Given the description of an element on the screen output the (x, y) to click on. 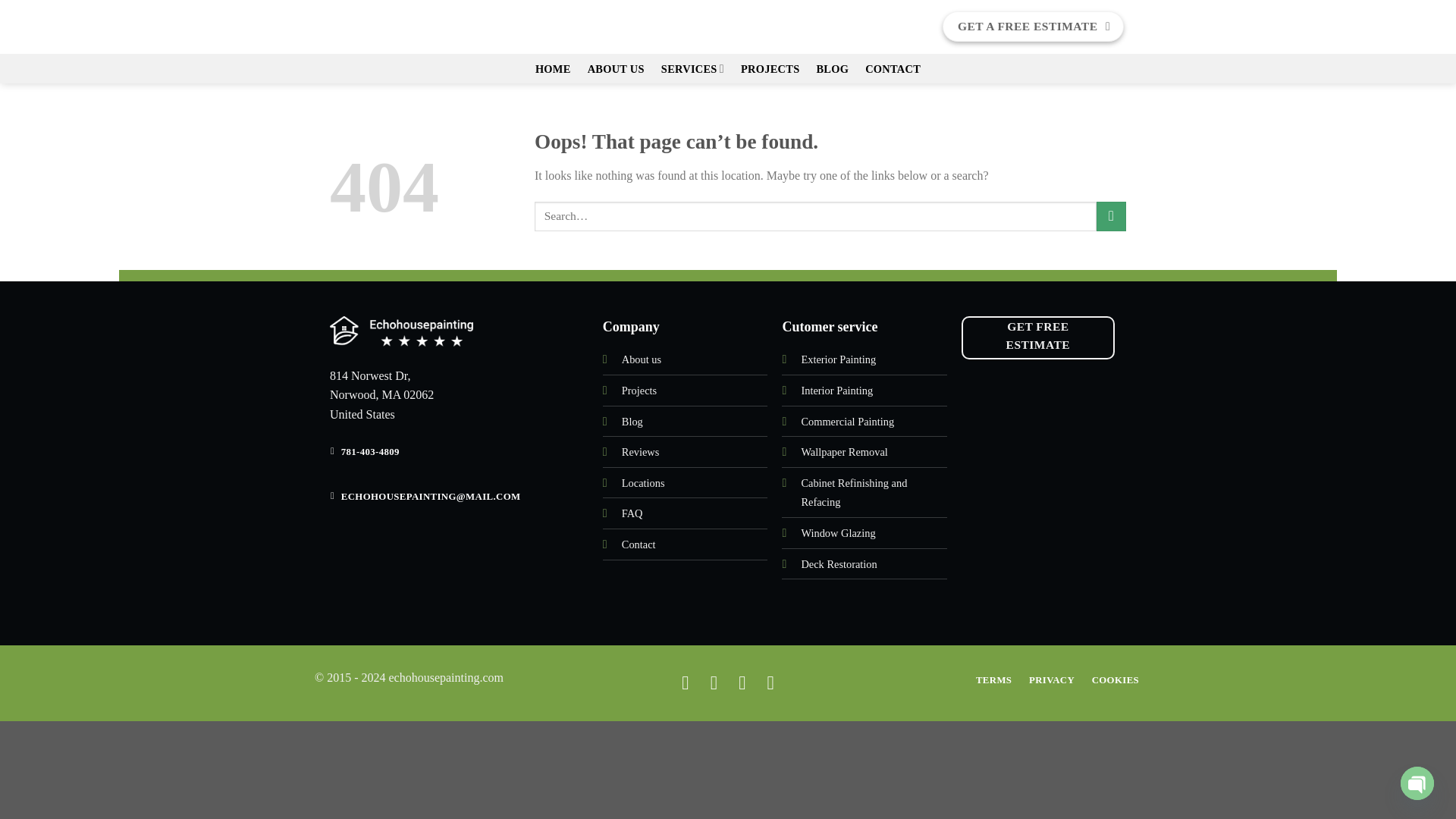
Exterior Painting (838, 358)
Commercial Painting (846, 421)
Deck Restoration (838, 563)
PROJECTS (770, 68)
Contact (638, 544)
BLOG (831, 68)
Projects (638, 390)
Window Glazing (837, 532)
Follow on Pinterest (741, 681)
Interior Painting (836, 390)
About us (641, 358)
Follow on Instagram (713, 681)
Blog (632, 421)
ABOUT US (616, 68)
Locations (643, 482)
